Given the description of an element on the screen output the (x, y) to click on. 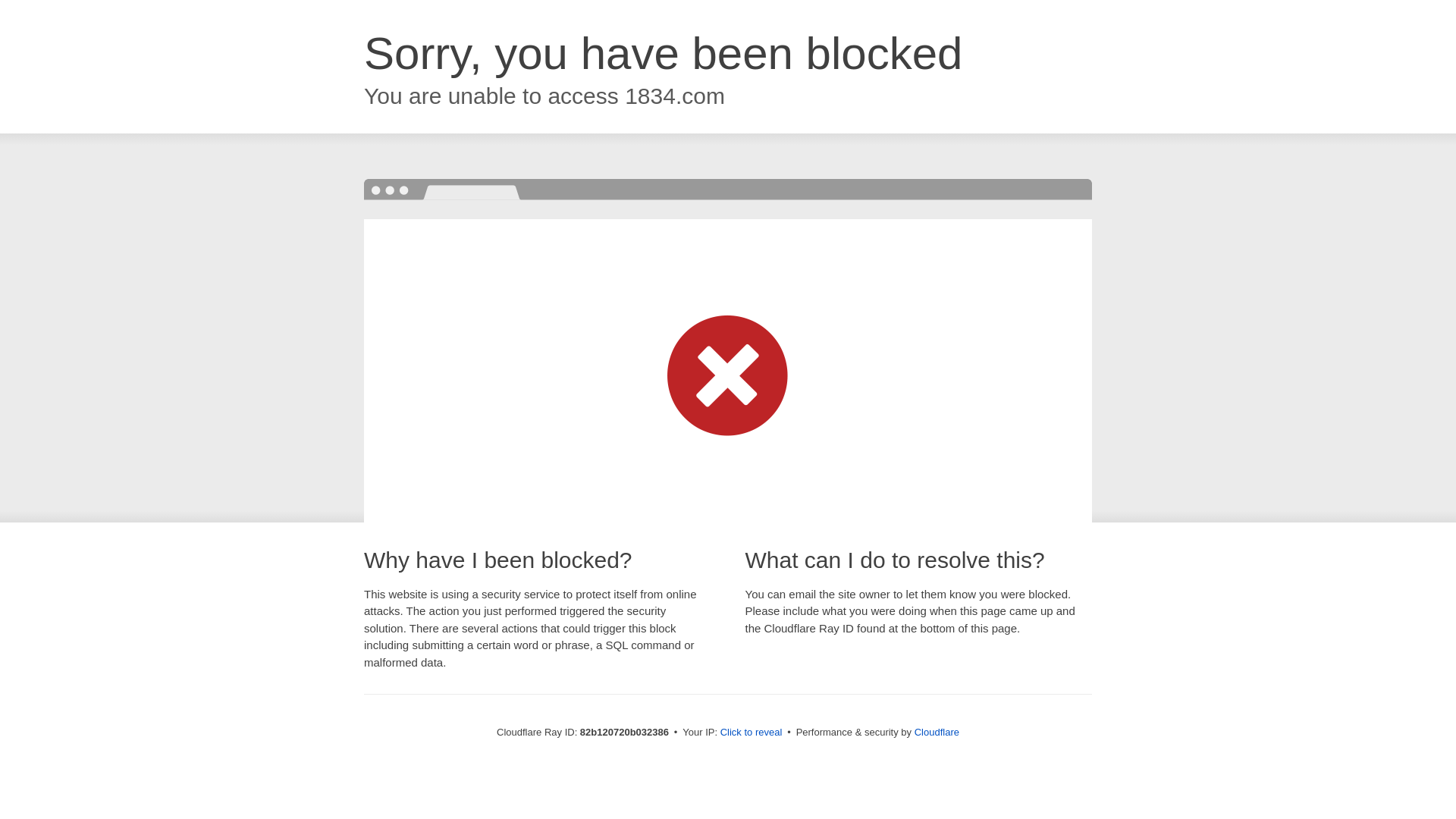
Cloudflare Element type: text (936, 731)
Click to reveal Element type: text (751, 732)
